Given the description of an element on the screen output the (x, y) to click on. 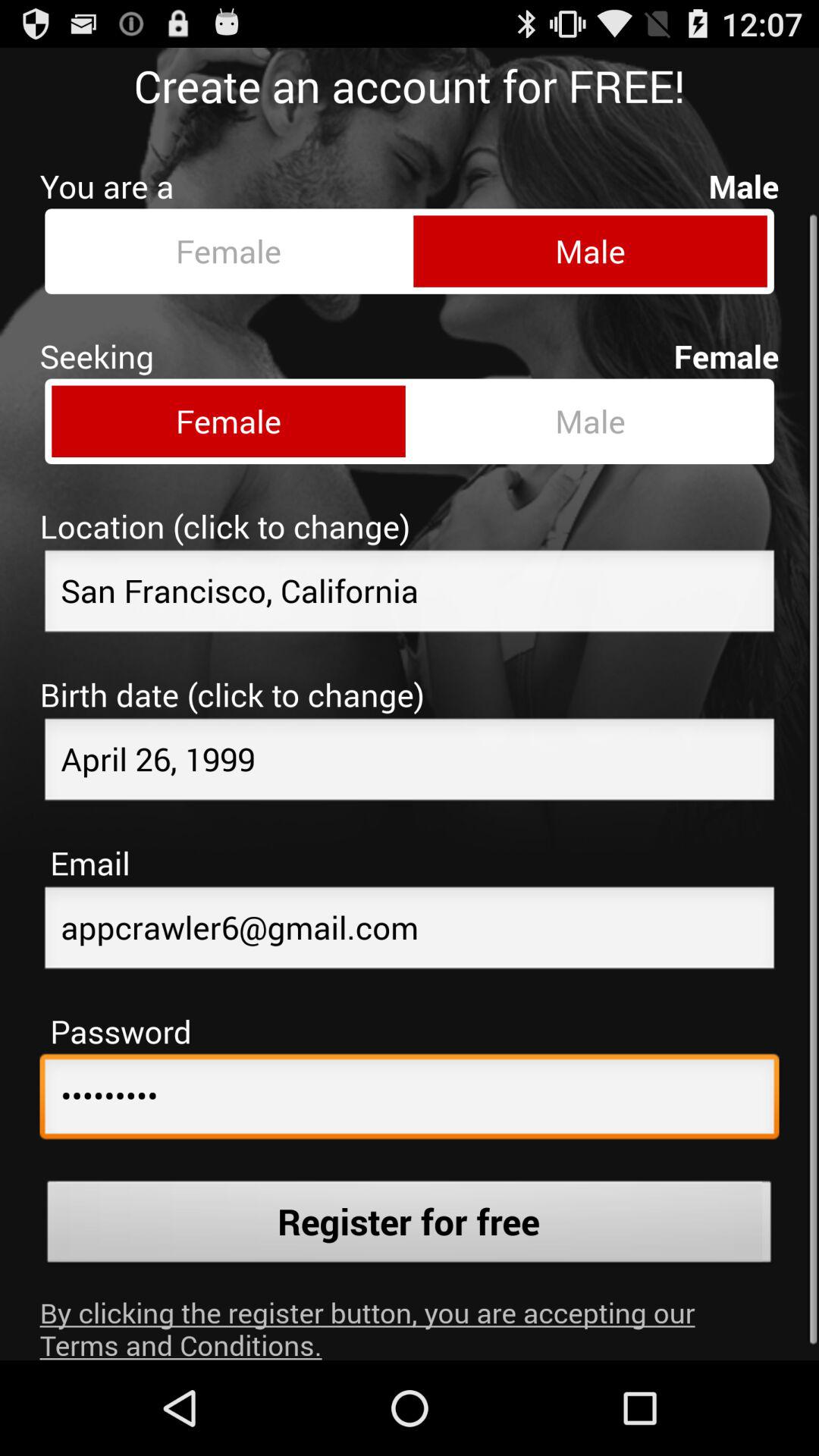
edit location (409, 581)
